Given the description of an element on the screen output the (x, y) to click on. 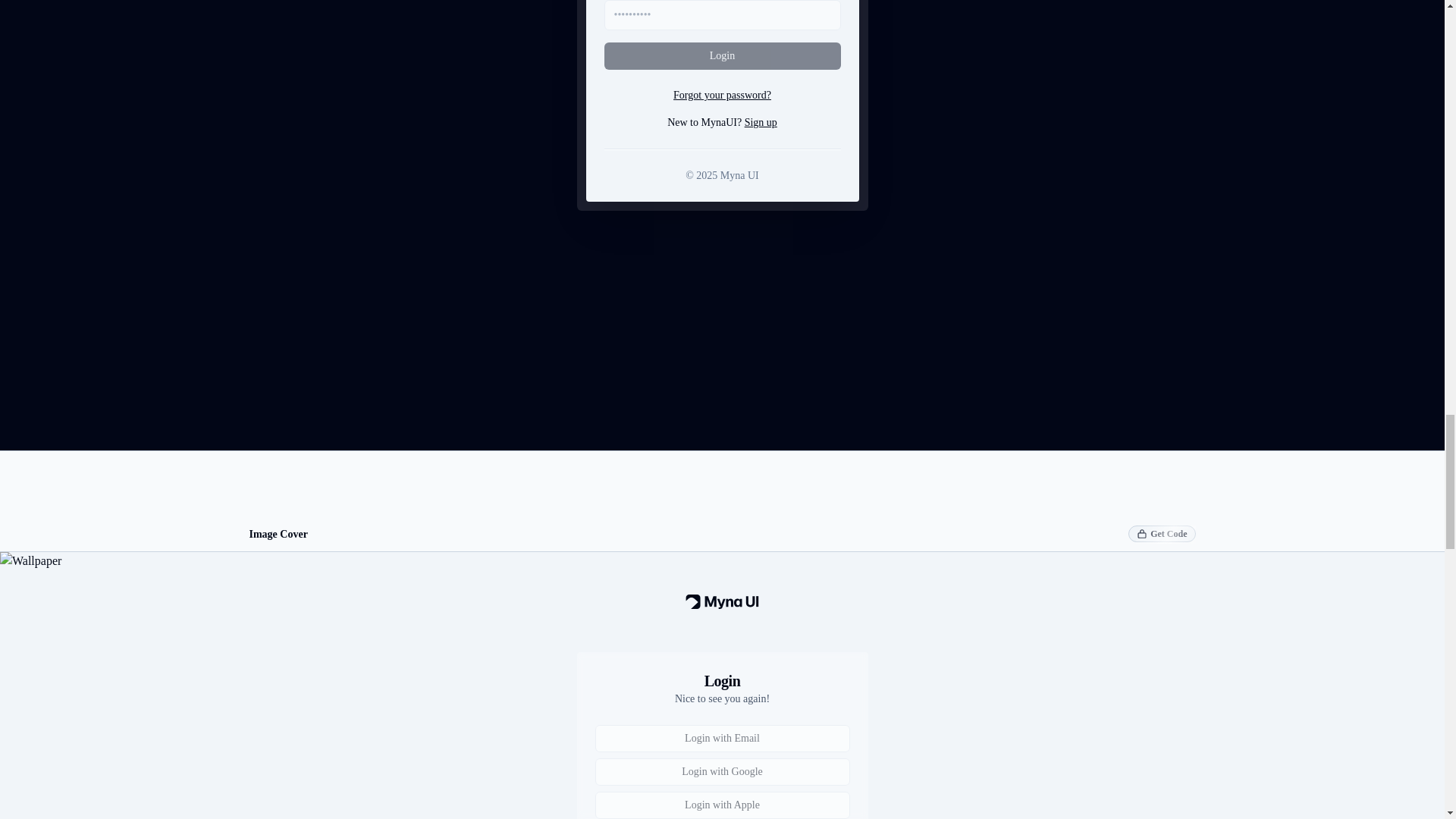
Image Cover (277, 533)
Login (722, 55)
Get Code (1161, 533)
Sign up (760, 122)
Forgot your password? (722, 95)
Login with Email (721, 738)
Login with Apple (721, 805)
Login with Google (721, 771)
